Given the description of an element on the screen output the (x, y) to click on. 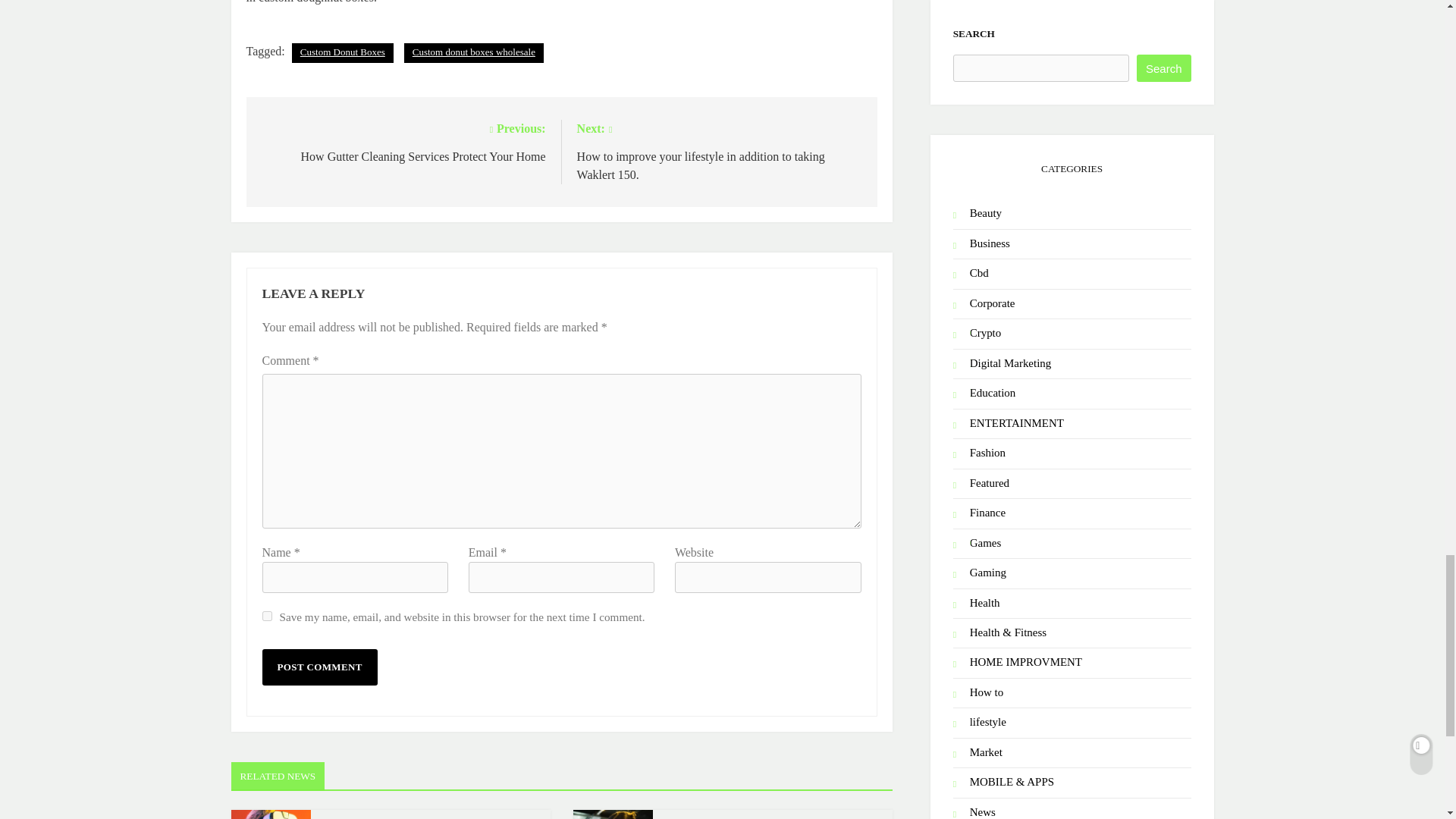
Custom Donut Boxes (342, 53)
Custom donut boxes wholesale (473, 53)
yes (267, 615)
Post Comment (319, 667)
